Given the description of an element on the screen output the (x, y) to click on. 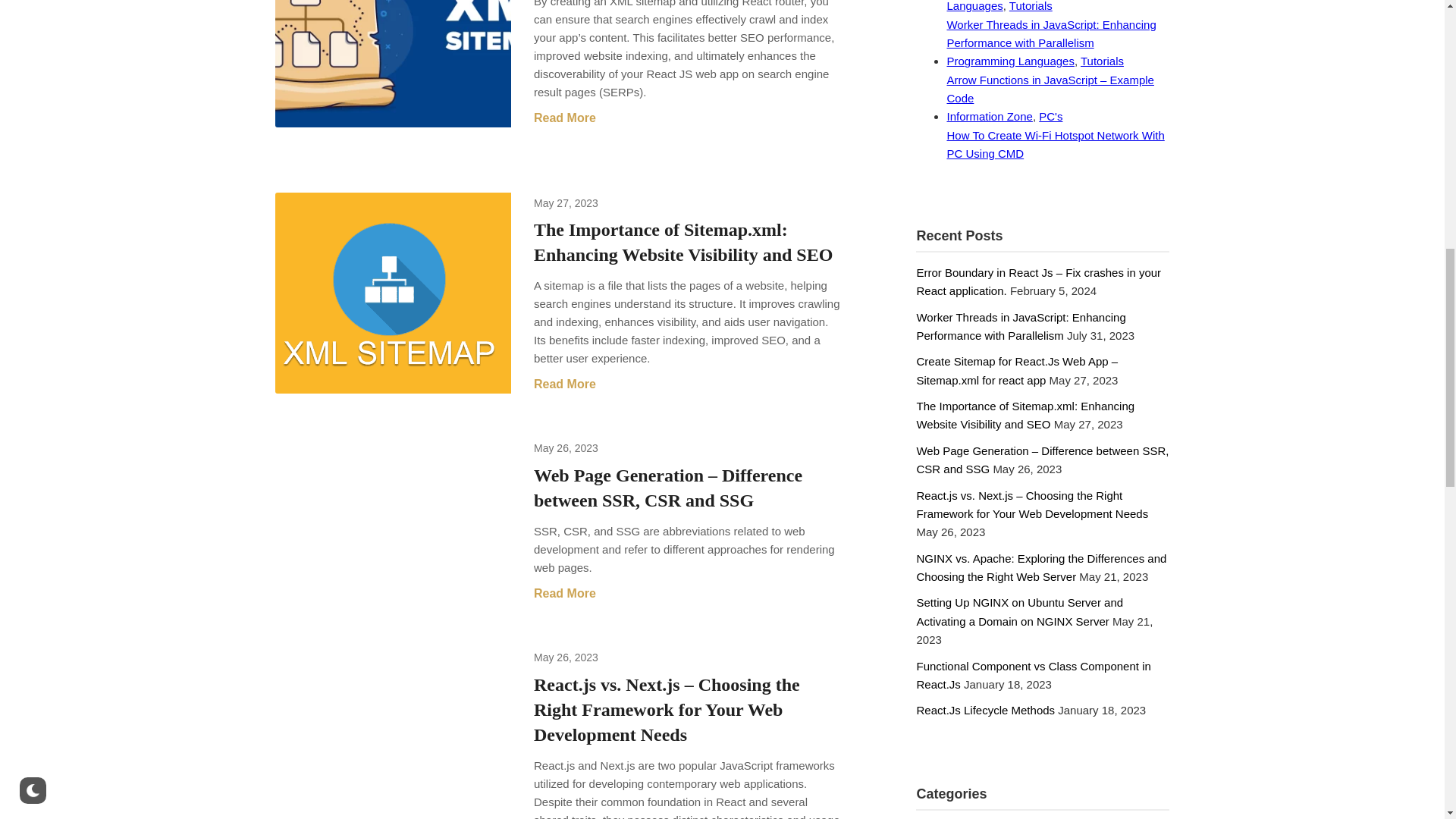
May 26, 2023 (566, 448)
Read More (564, 384)
May 27, 2023 (566, 203)
Read More (564, 117)
May 26, 2023 (566, 657)
Read More (564, 593)
